Given the description of an element on the screen output the (x, y) to click on. 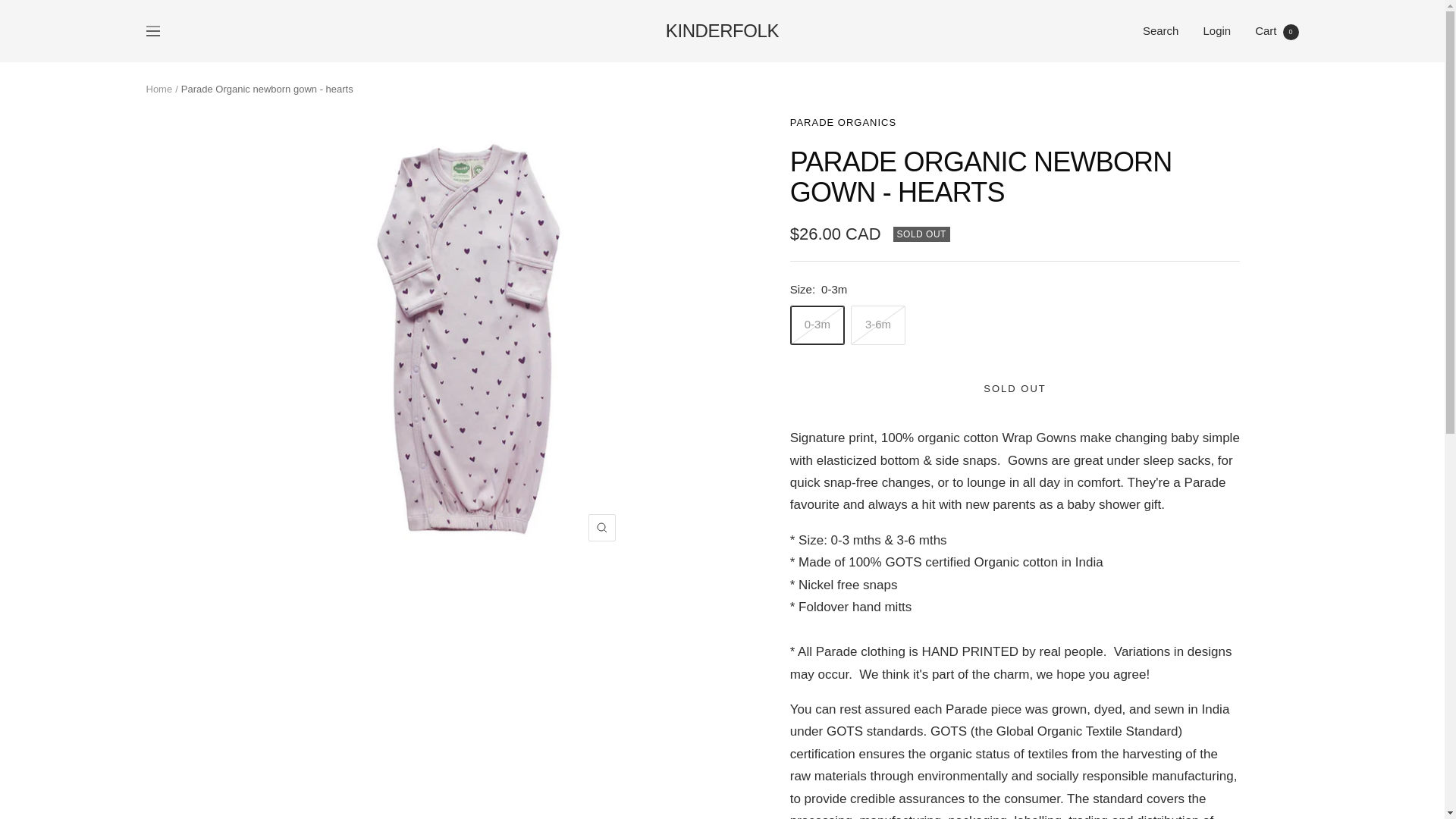
Zoom (601, 527)
Navigation (1276, 30)
Search (151, 30)
3-6m (1160, 30)
SOLD OUT (843, 122)
Home (1015, 388)
KINDERFOLK (158, 89)
